Given the description of an element on the screen output the (x, y) to click on. 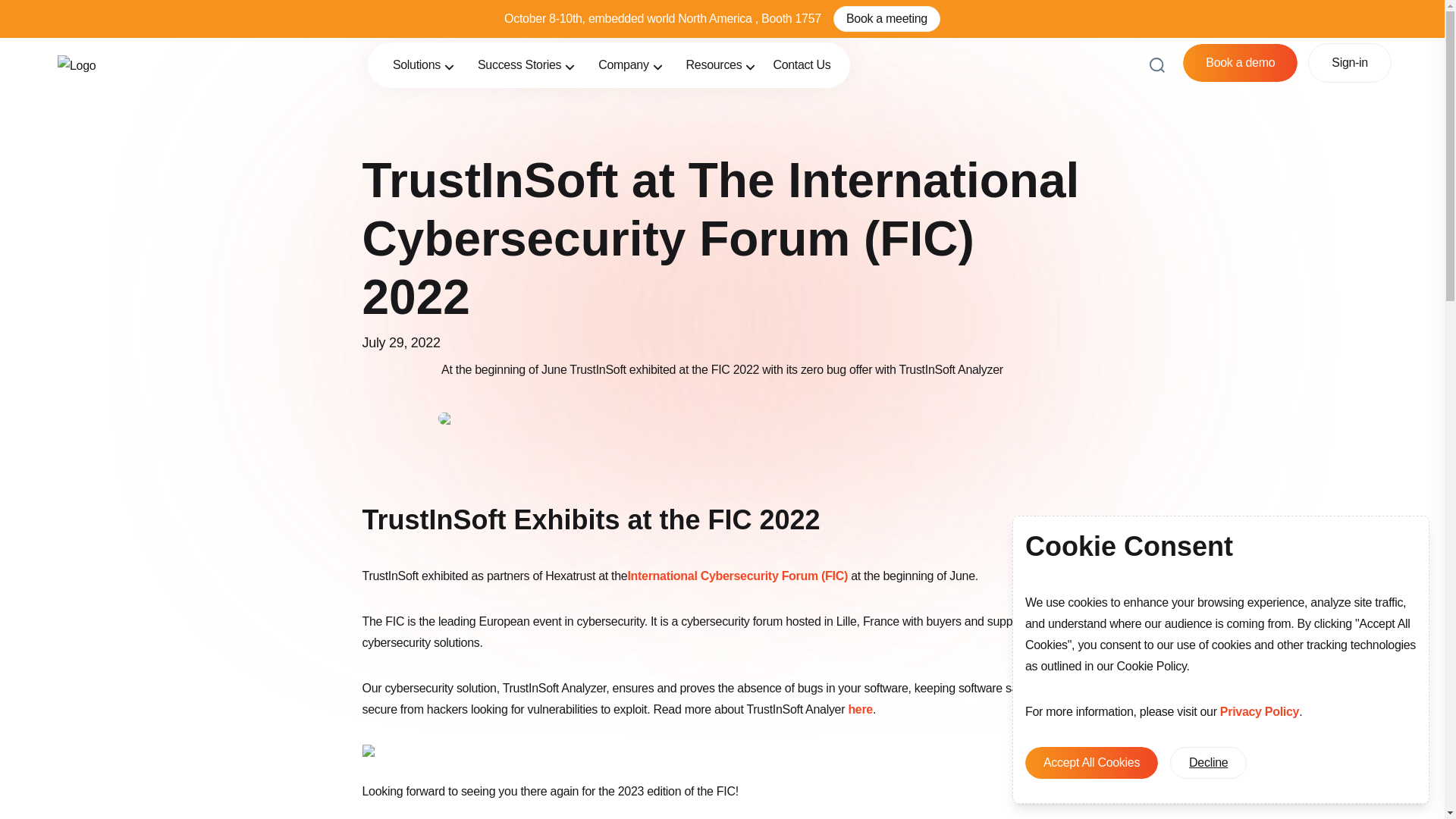
Contact Us (801, 64)
Book a meeting (886, 18)
Book a demo (1239, 62)
Sign-in (1349, 61)
Success Stories (526, 64)
Resources (722, 64)
Solutions (423, 64)
Company (630, 64)
